Given the description of an element on the screen output the (x, y) to click on. 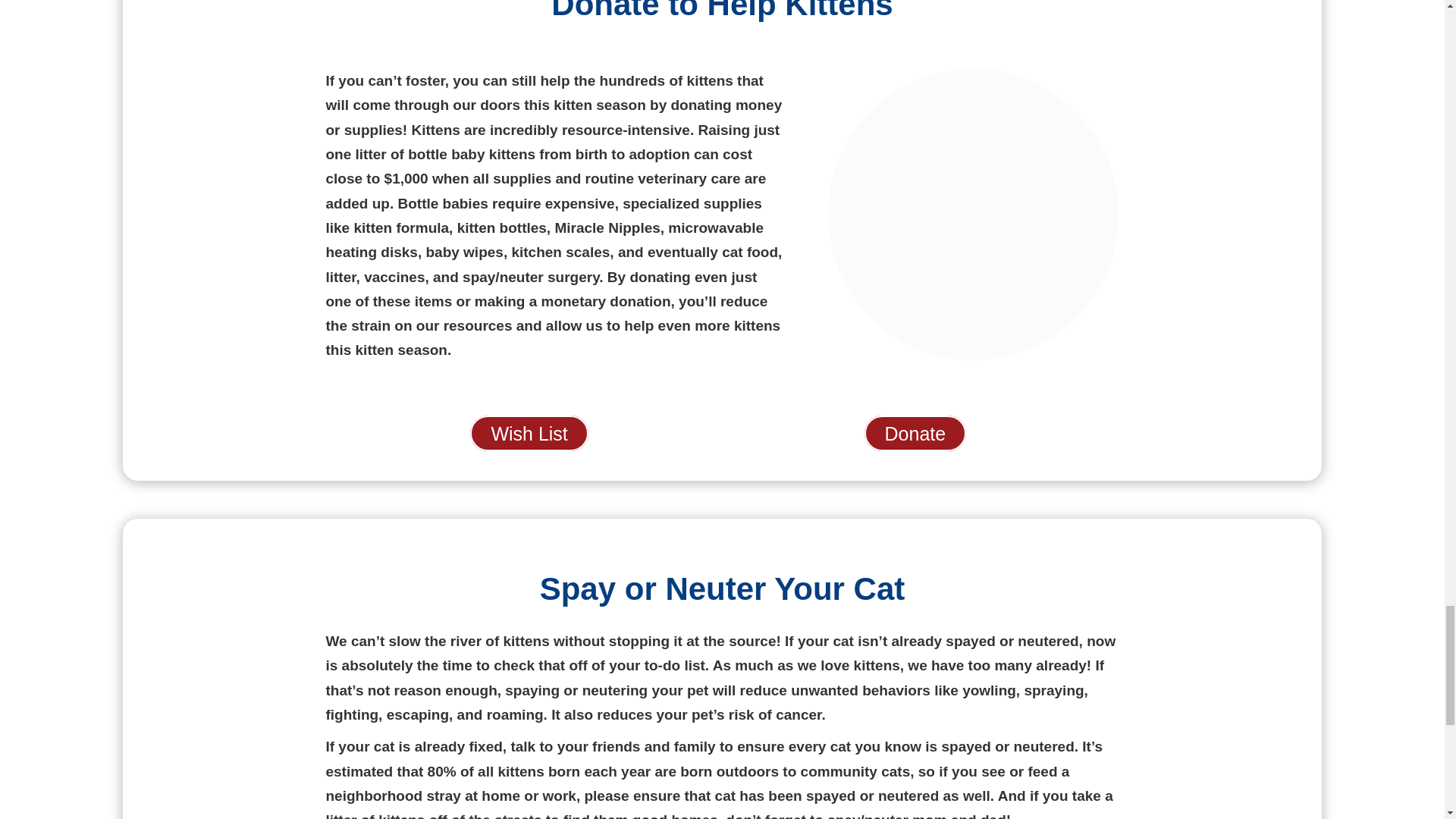
851624F8-0D39-4850-B062-6152042E9D2C 2 (973, 214)
